Given the description of an element on the screen output the (x, y) to click on. 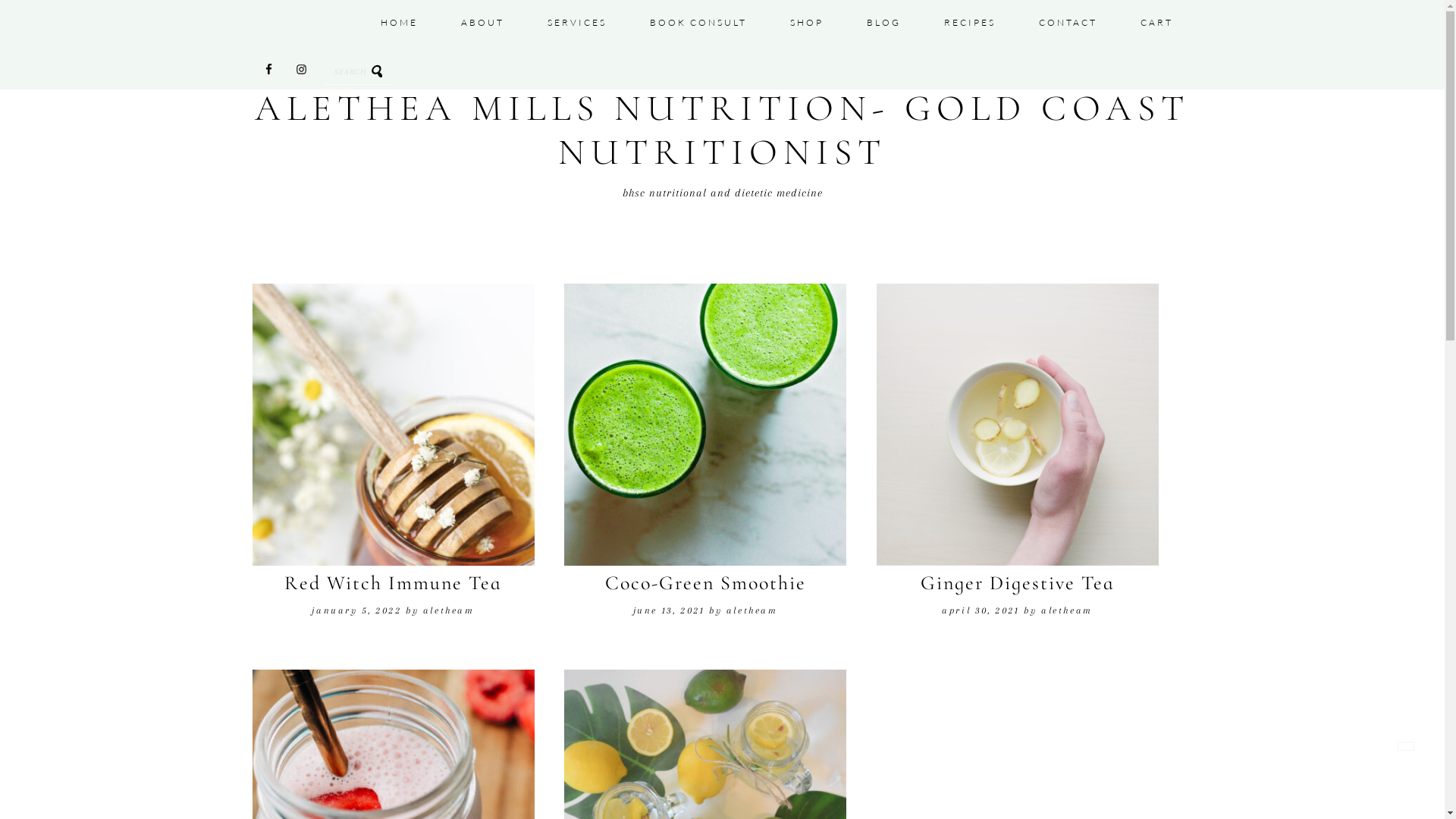
Coco-Green Smoothie Element type: text (705, 582)
aletheam Element type: text (1066, 610)
aletheam Element type: text (448, 610)
ALETHEA MILLS NUTRITION- GOLD COAST NUTRITIONIST Element type: text (721, 130)
BOOK CONSULT Element type: text (697, 22)
SERVICES Element type: text (576, 22)
BLOG Element type: text (882, 22)
CART Element type: text (1156, 22)
HOME Element type: text (398, 22)
RECIPES Element type: text (968, 22)
aletheam Element type: text (752, 610)
CONTACT Element type: text (1068, 22)
SHOP Element type: text (806, 22)
ABOUT Element type: text (482, 22)
Red Witch Immune Tea Element type: text (393, 582)
Ginger Digestive Tea Element type: text (1017, 582)
